Given the description of an element on the screen output the (x, y) to click on. 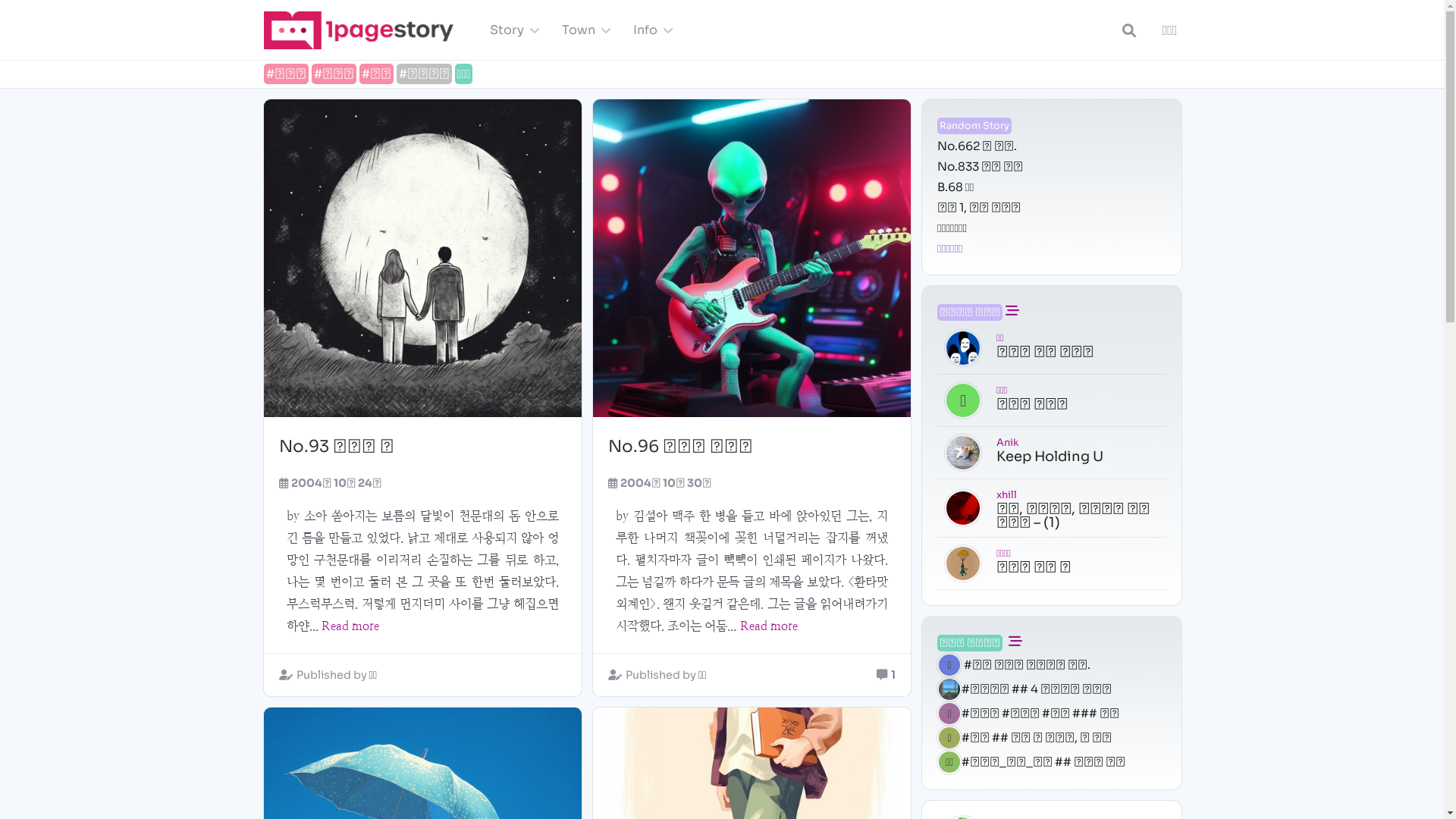
Read more Element type: text (350, 625)
Town Element type: text (582, 30)
xhill Element type: text (1006, 493)
Info Element type: text (649, 30)
Anik Element type: text (1007, 441)
Keep Holding U Element type: text (1049, 456)
1 Element type: text (893, 674)
Read more Element type: text (768, 625)
Story Element type: text (510, 30)
